Given the description of an element on the screen output the (x, y) to click on. 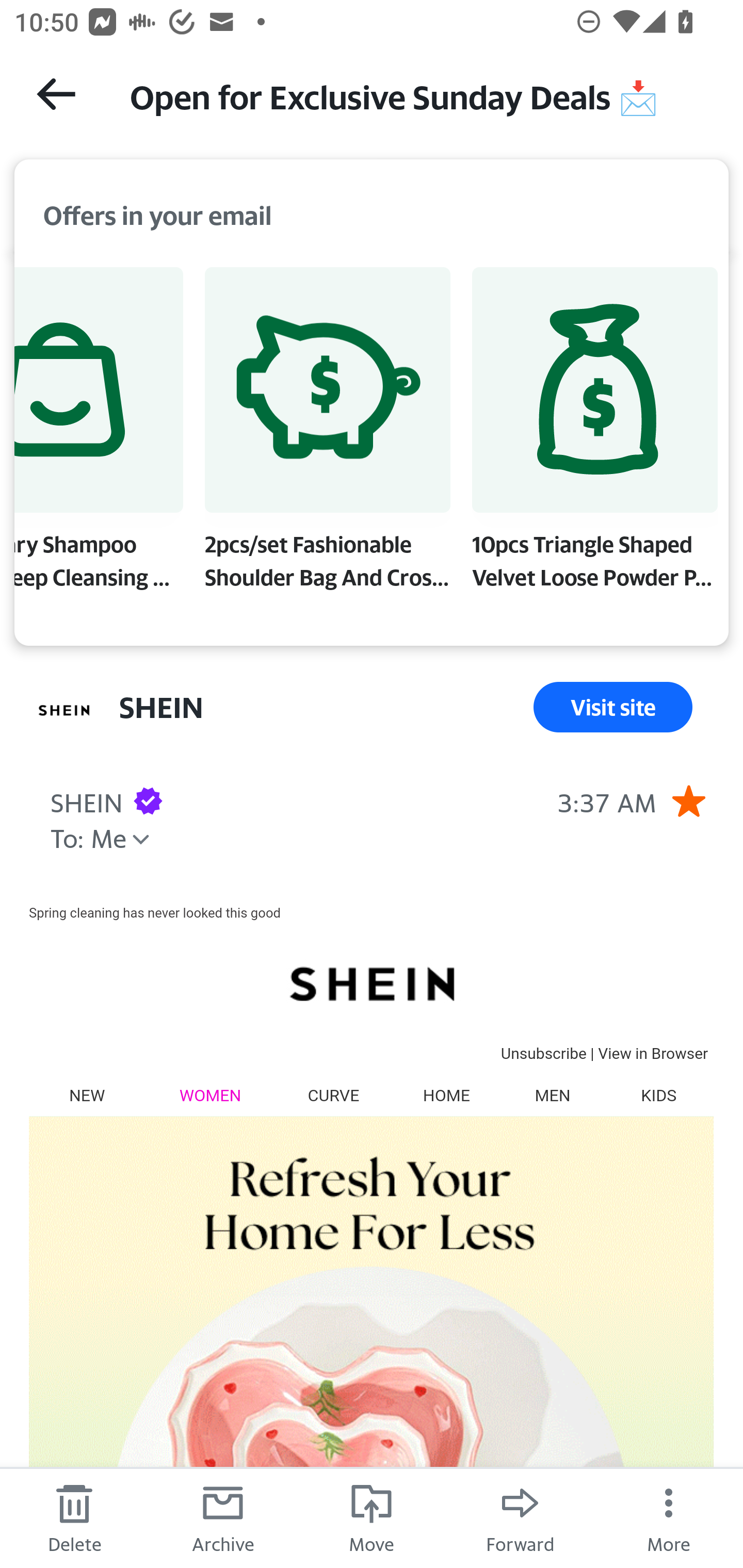
Back (55, 93)
Open for Exclusive Sunday Deals 📩 (418, 94)
View all messages from sender (64, 711)
Visit site Visit Site Link (612, 707)
SHEIN Sender SHEIN (160, 706)
SHEIN Sender SHEIN (86, 800)
Remove star. (688, 800)
Spring cleaning has never looked this good (154, 912)
SHEIN (370, 982)
Unsubscribe (543, 1052)
View in Browser (652, 1052)
NEW (86, 1095)
WOMEN (210, 1095)
CURVE (333, 1095)
HOME (445, 1095)
MEN (552, 1095)
KIDS (658, 1095)
REFRESH YOUR HOME FOR LESS (370, 1342)
Delete (74, 1517)
Archive (222, 1517)
Move (371, 1517)
Forward (519, 1517)
More (668, 1517)
